Given the description of an element on the screen output the (x, y) to click on. 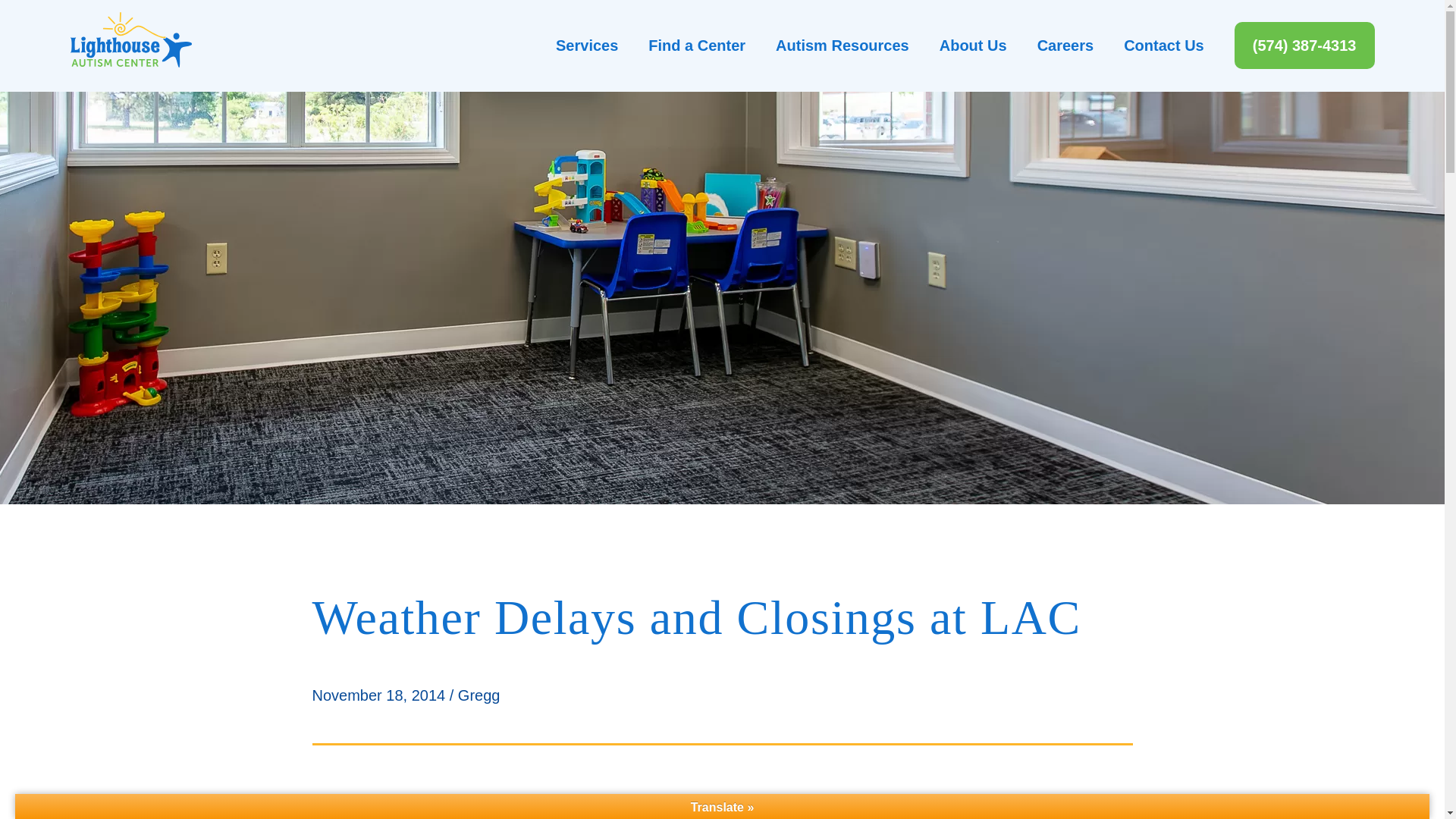
Autism Resources (842, 45)
Find a Center (696, 45)
Contact Us (1164, 45)
Services (586, 45)
Careers (1065, 45)
About Us (973, 45)
